Given the description of an element on the screen output the (x, y) to click on. 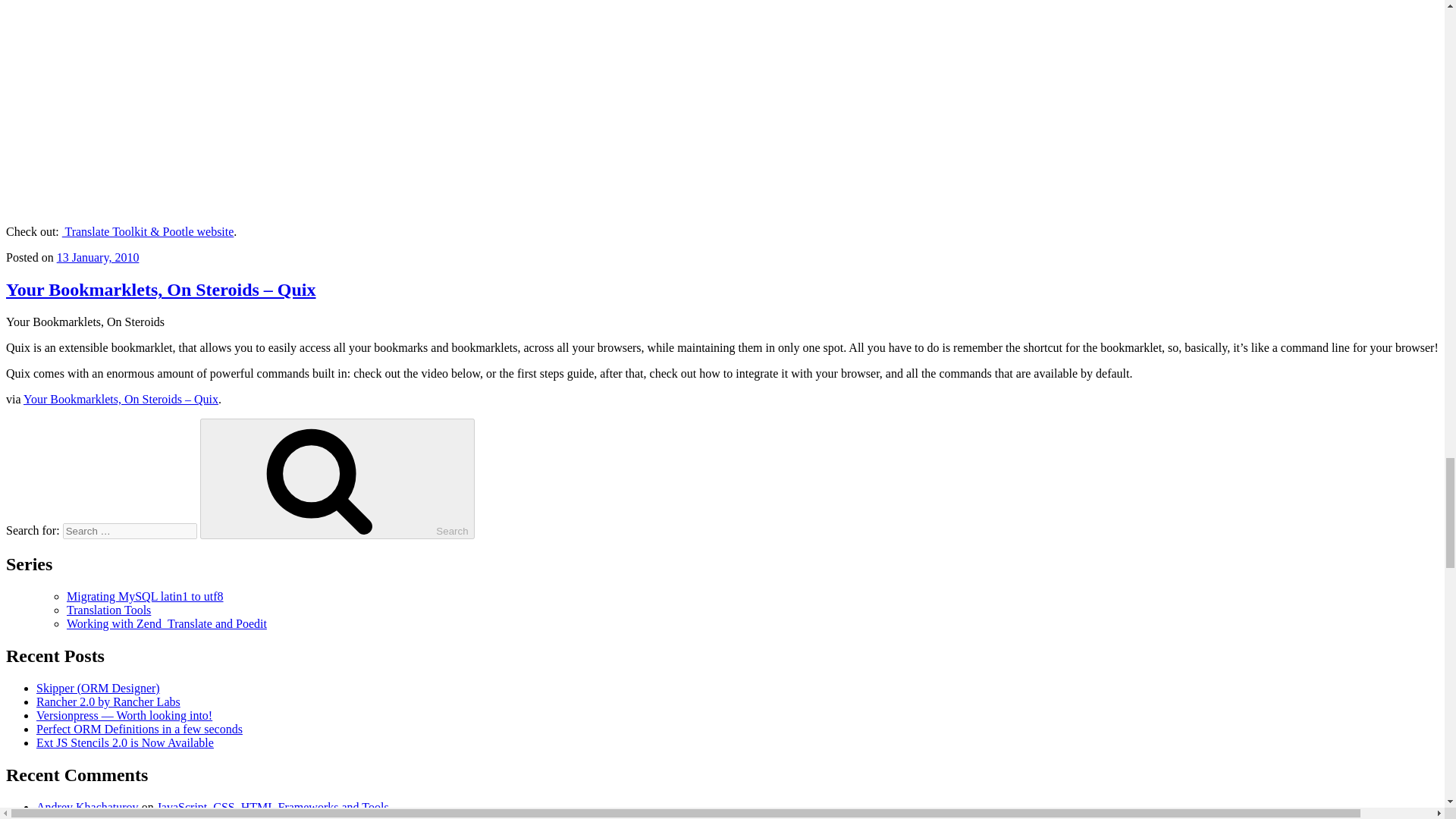
Configuring Poedit for Zend Framework Projects (201, 816)
13 January, 2010 (97, 256)
Rancher 2.0 by Rancher Labs (108, 701)
Ext JS Stencils 2.0 is Now Available (125, 742)
Migrating MySQL latin1 to utf8 (145, 595)
Migrating MySQL latin1 to utf8 (145, 595)
Translation Tools (108, 609)
JavaScript, CSS, HTML Frameworks and Tools (272, 807)
Translation Tools (108, 609)
Search (337, 478)
